Given the description of an element on the screen output the (x, y) to click on. 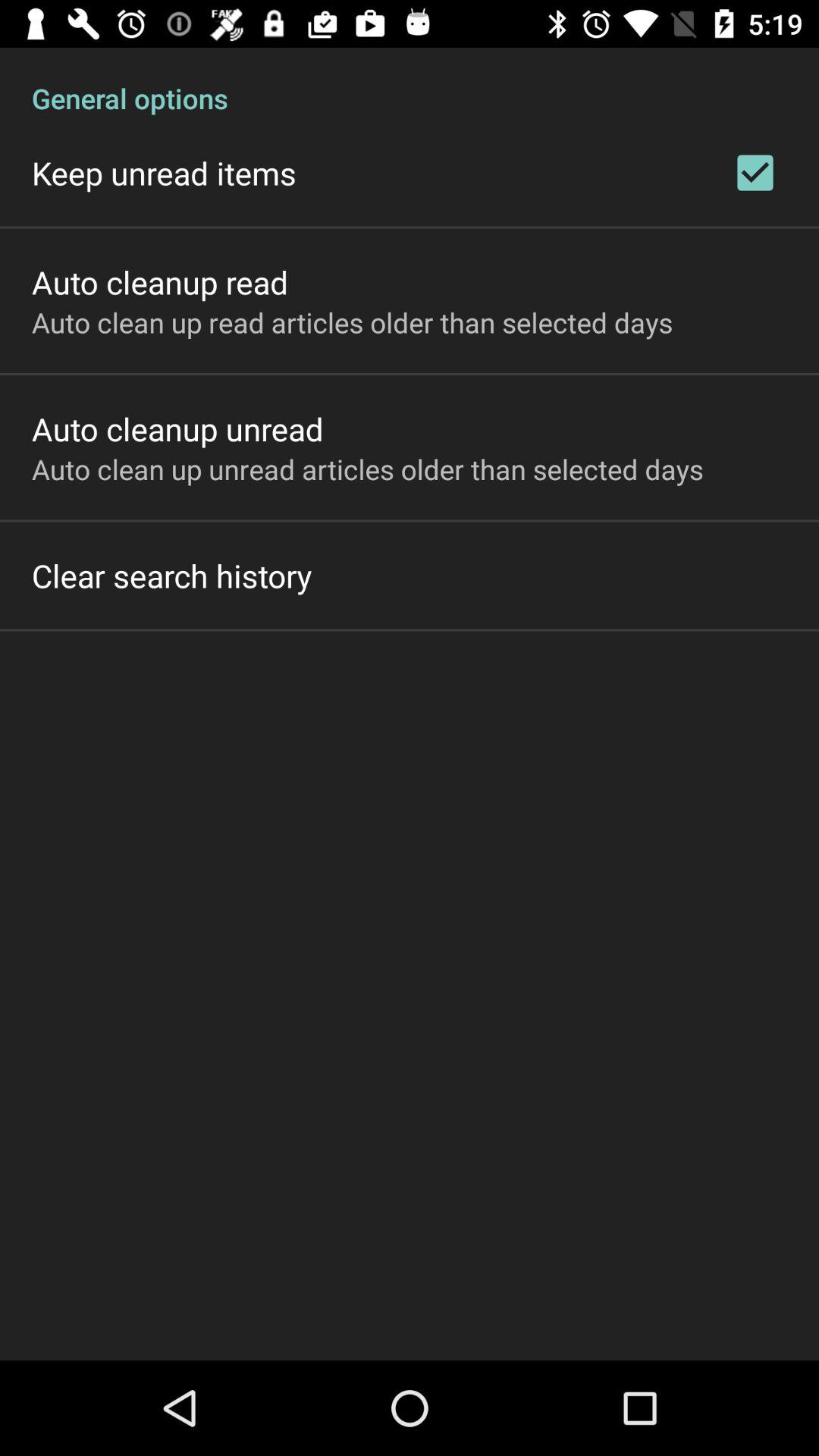
click the keep unread items (163, 172)
